Given the description of an element on the screen output the (x, y) to click on. 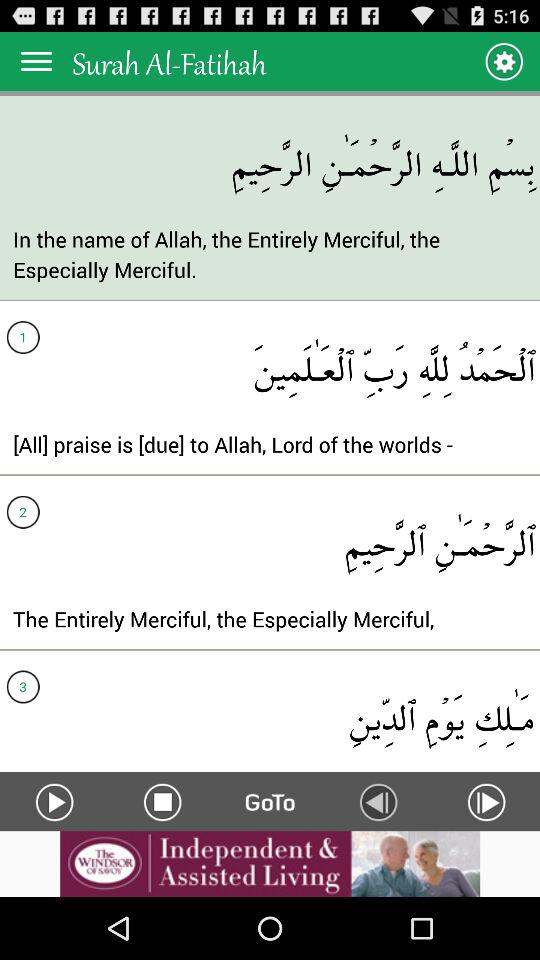
more options (36, 60)
